Given the description of an element on the screen output the (x, y) to click on. 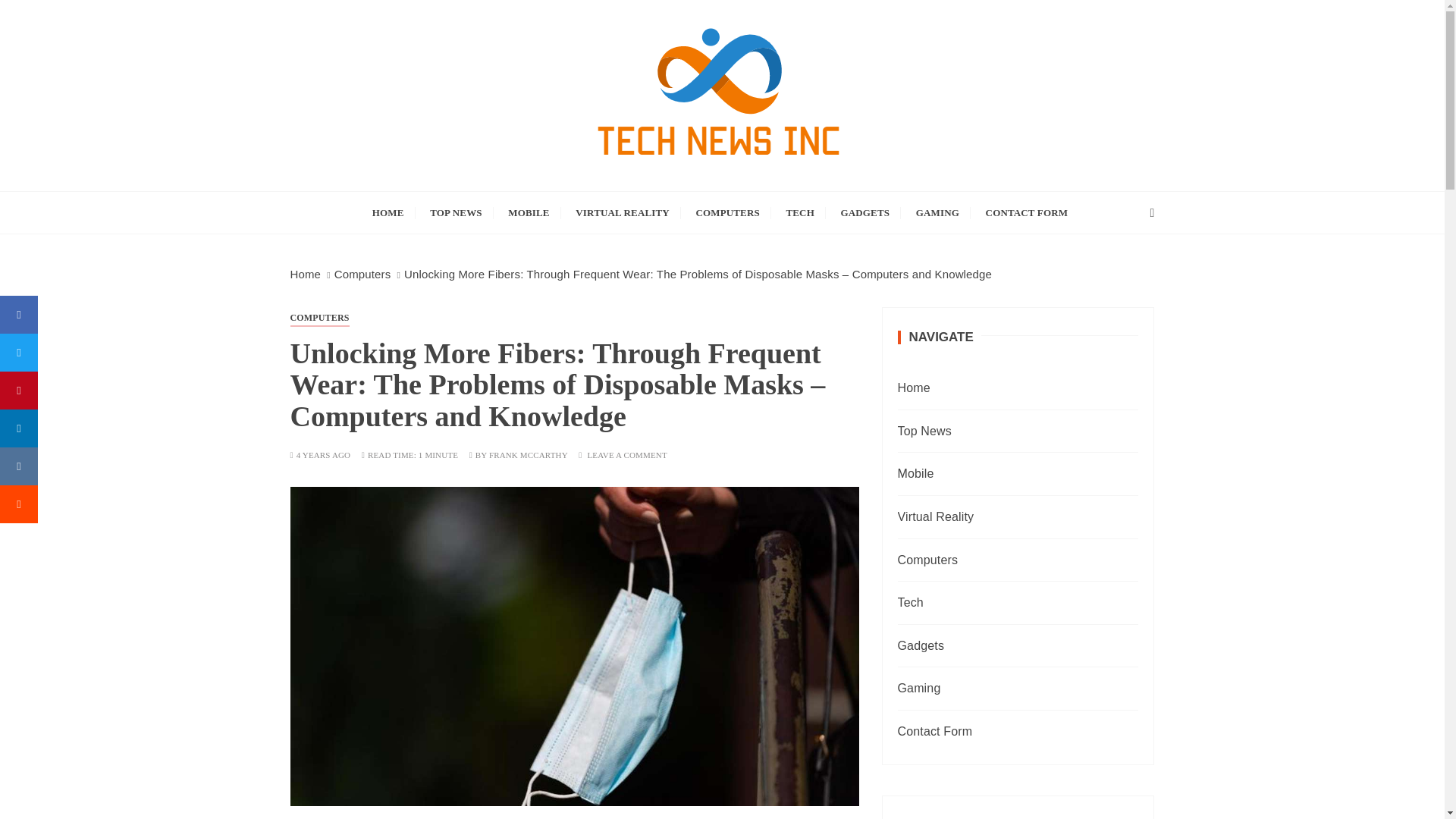
GAMING (937, 212)
COMPUTERS (727, 212)
Computers (362, 273)
Home (304, 273)
GADGETS (865, 212)
COMPUTERS (319, 317)
HOME (387, 212)
MOBILE (528, 212)
FRANK MCCARTHY (528, 455)
CONTACT FORM (1027, 212)
VIRTUAL REALITY (622, 212)
LEAVE A COMMENT (626, 455)
Tech News Inc (412, 201)
TOP NEWS (456, 212)
TECH (799, 212)
